Given the description of an element on the screen output the (x, y) to click on. 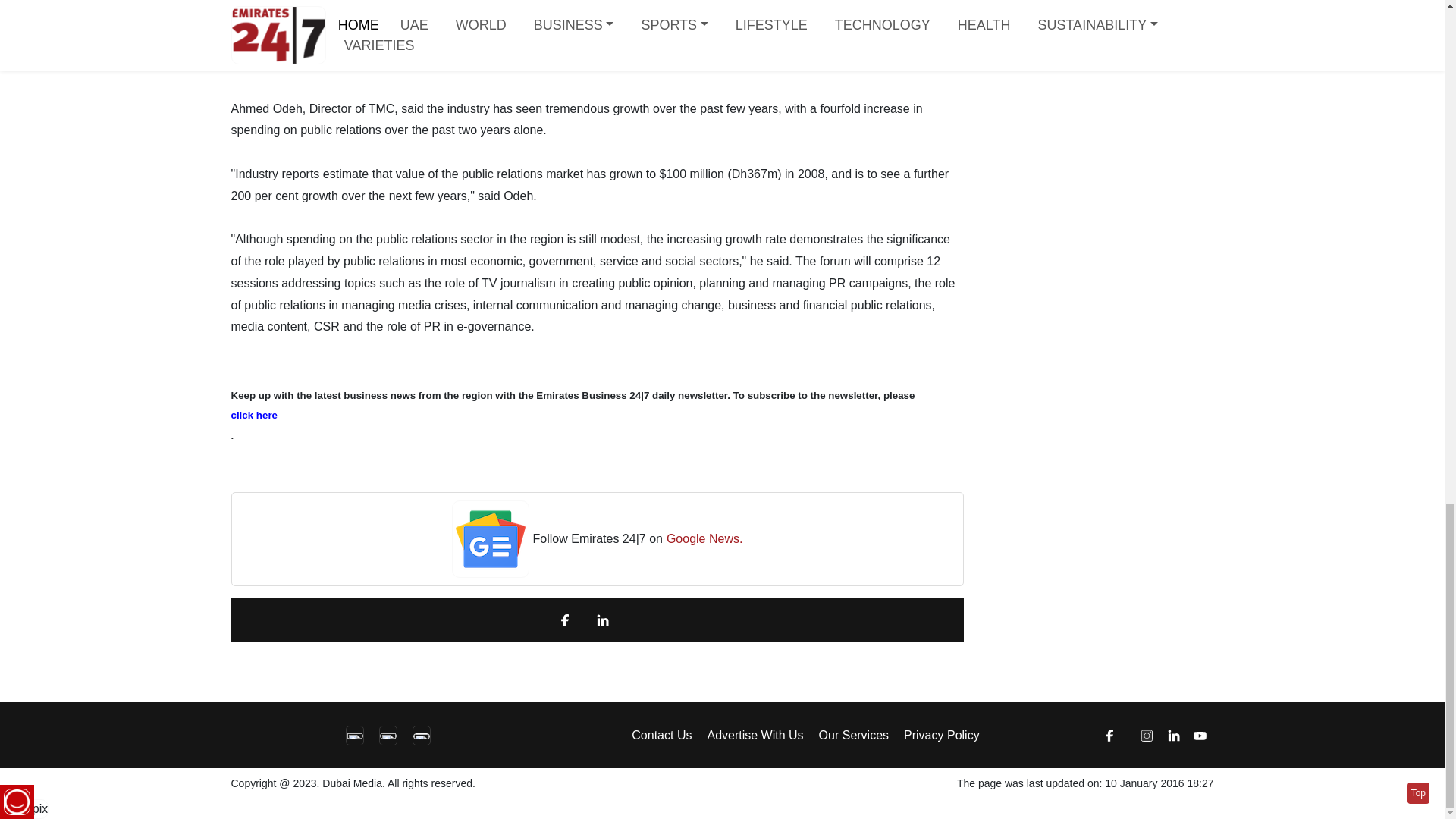
click here (596, 415)
